Given the description of an element on the screen output the (x, y) to click on. 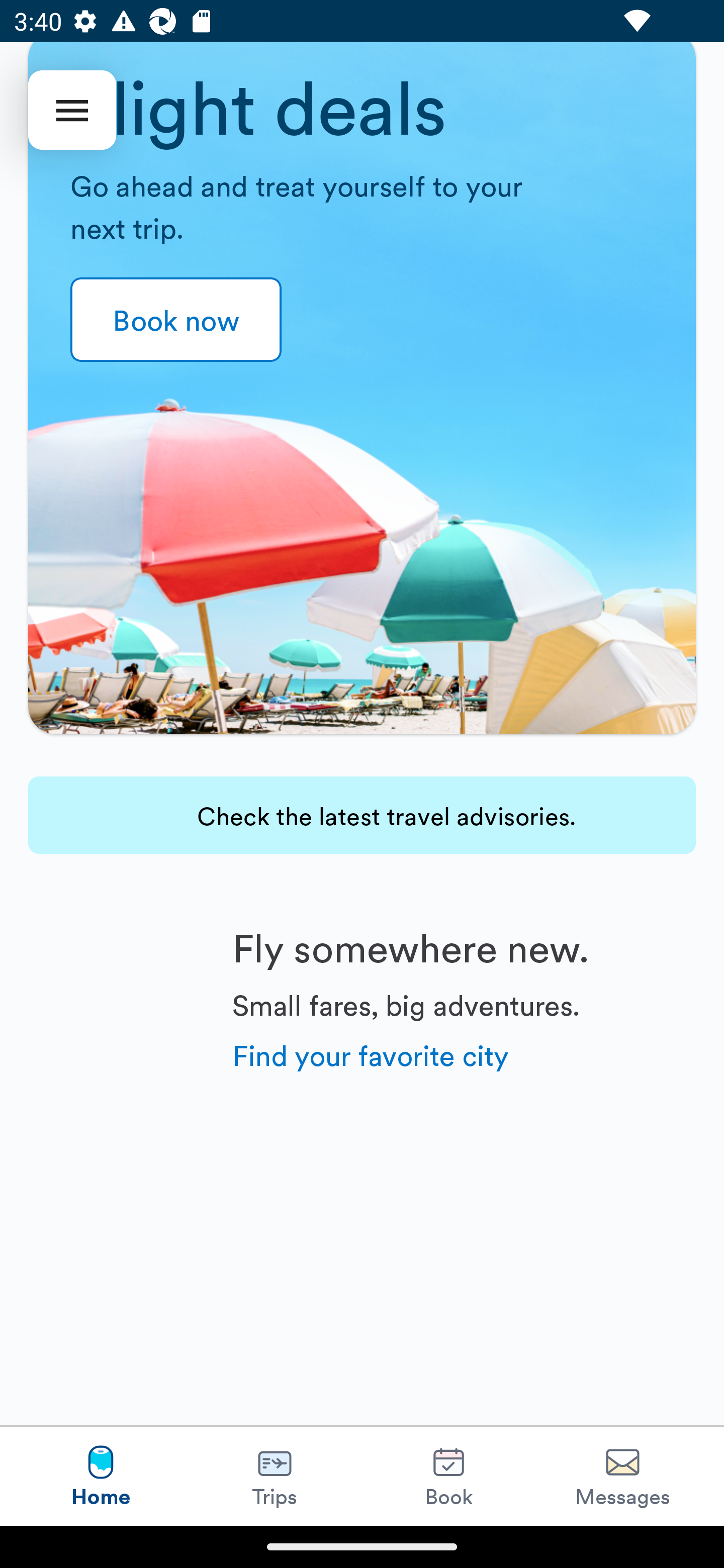
Book now (175, 319)
Check the latest travel advisories. (361, 815)
Find your favorite city (370, 1054)
Home (100, 1475)
Trips (275, 1475)
Book (448, 1475)
Messages (622, 1475)
